Given the description of an element on the screen output the (x, y) to click on. 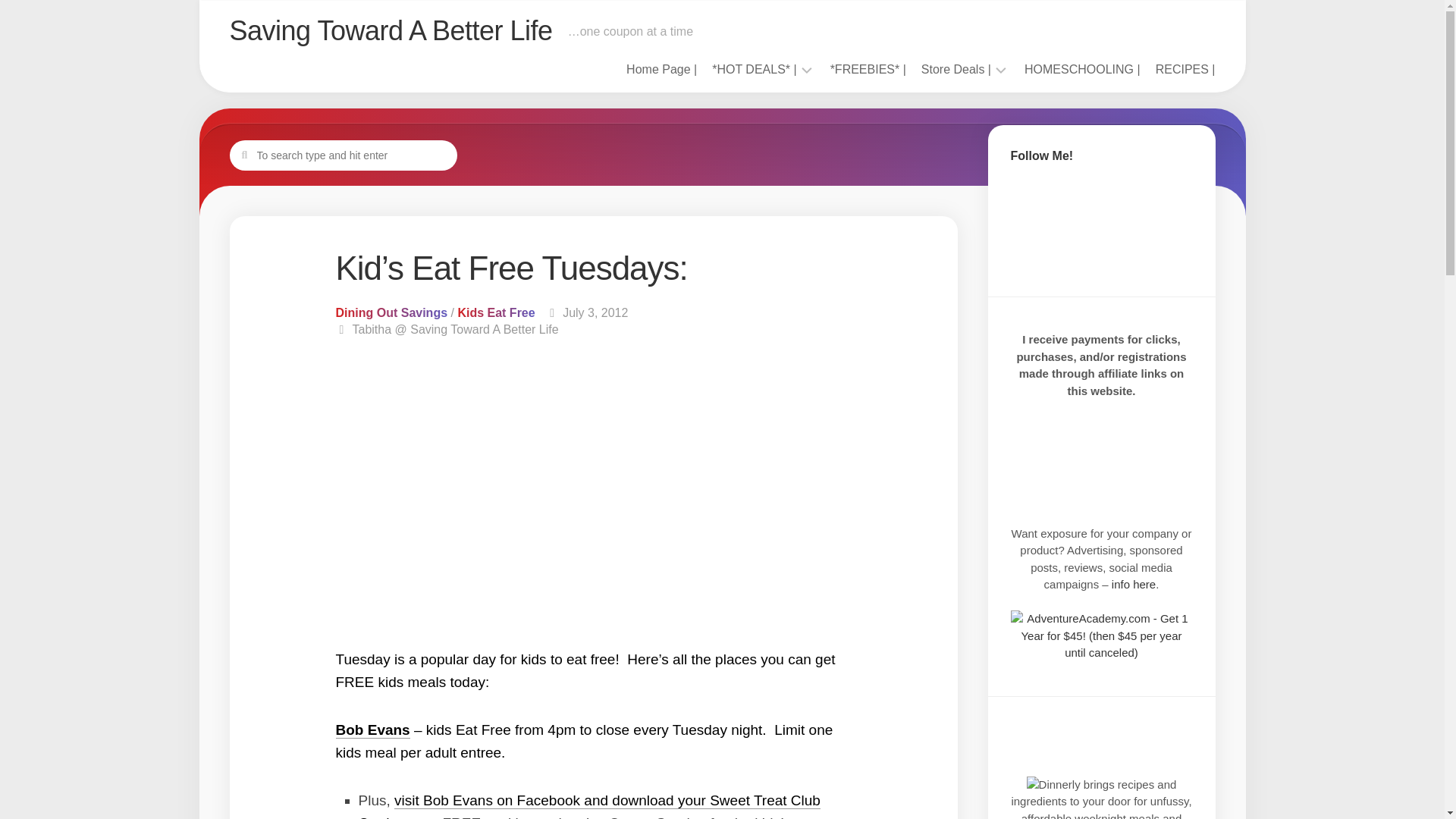
Store Deals (956, 69)
Kids Eat Free (495, 312)
Saving Toward A Better Life (389, 31)
Home (661, 69)
To search type and hit enter (342, 154)
Dining Out Savings (390, 312)
To search type and hit enter (342, 154)
